Given the description of an element on the screen output the (x, y) to click on. 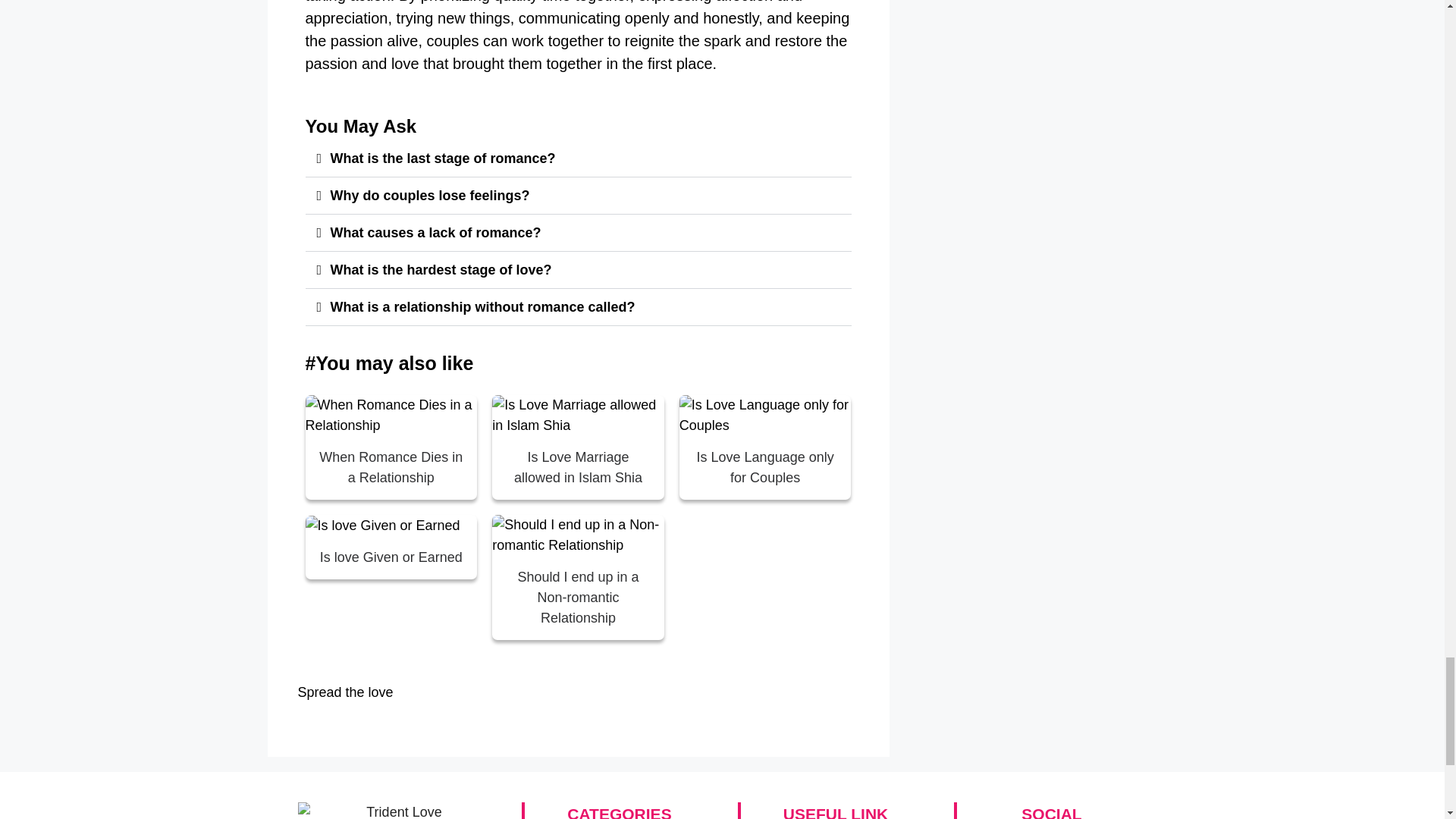
Is love Given or Earned (391, 557)
What is the last stage of romance? (443, 158)
Why do couples lose feelings? (429, 195)
What is the hardest stage of love? (440, 269)
Is Love Marriage allowed in Islam Shia (577, 467)
Is Love Language only for Couples (765, 467)
What is a relationship without romance called? (482, 306)
When Romance Dies in a Relationship (390, 467)
What causes a lack of romance? (435, 232)
